Given the description of an element on the screen output the (x, y) to click on. 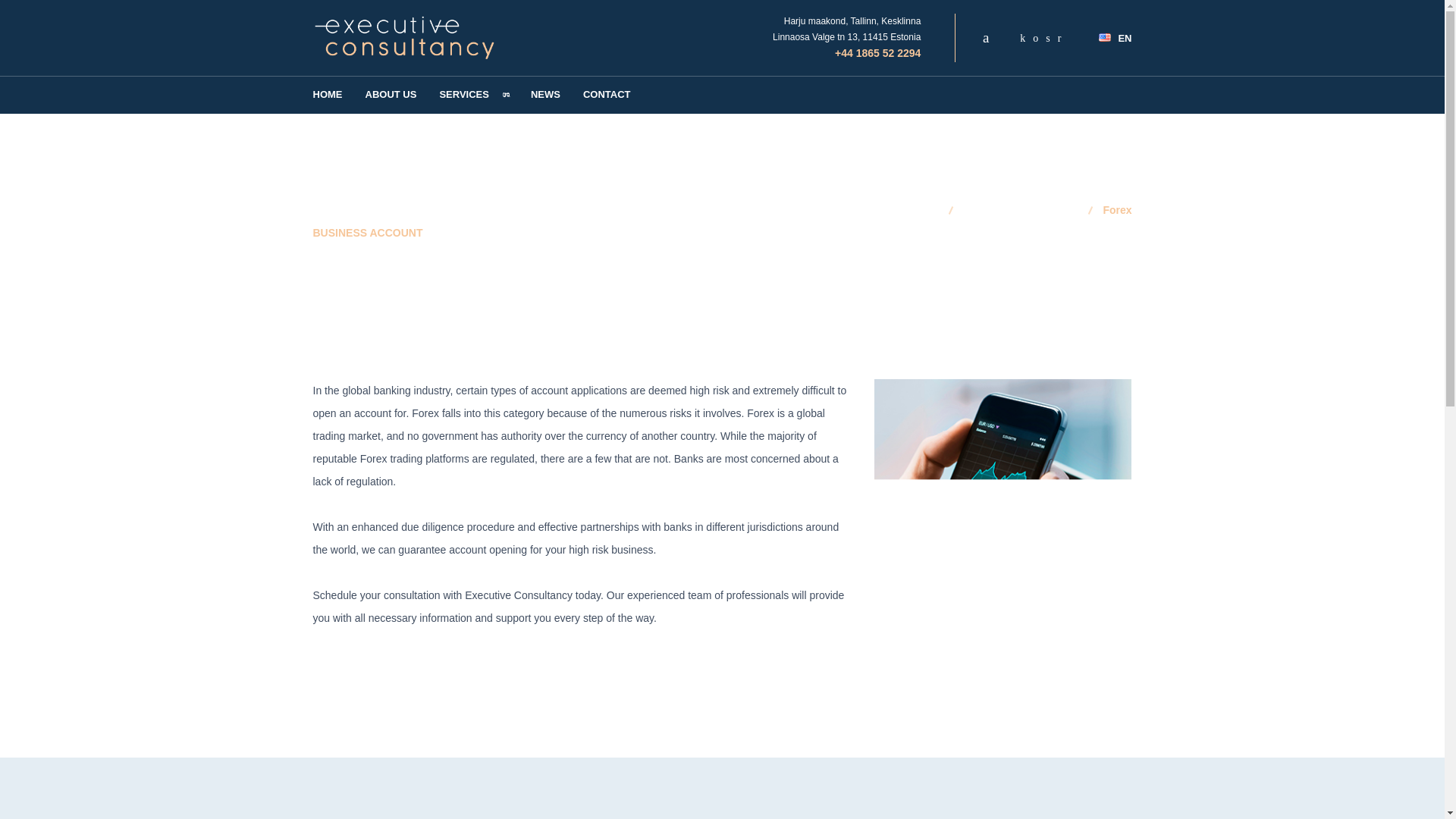
EN (1109, 38)
Home (931, 210)
NEWS (545, 94)
Forex (1116, 210)
SERVICES (473, 94)
HOME (327, 94)
Bank Account Opening (1026, 210)
CONTACT (607, 94)
Go (18, 15)
ABOUT US (390, 94)
